Given the description of an element on the screen output the (x, y) to click on. 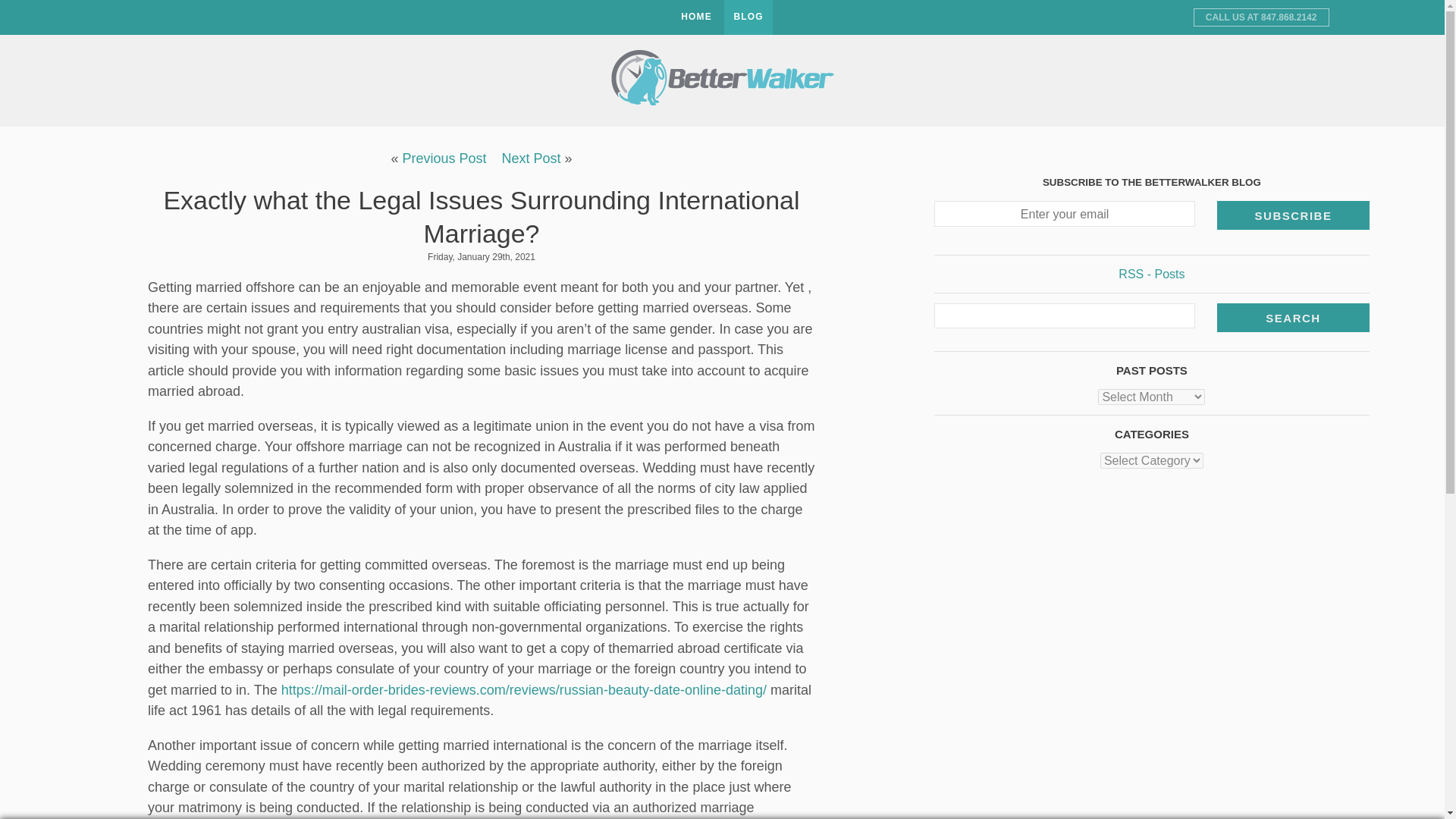
Subscribe (1293, 215)
CALL US AT 847.868.2142 (1261, 17)
Search (1293, 317)
Subscribe (1293, 215)
Previous Post (443, 158)
Search (1293, 317)
HOME (695, 17)
RSS - Posts (1151, 273)
BLOG (747, 17)
Next Post (531, 158)
